Given the description of an element on the screen output the (x, y) to click on. 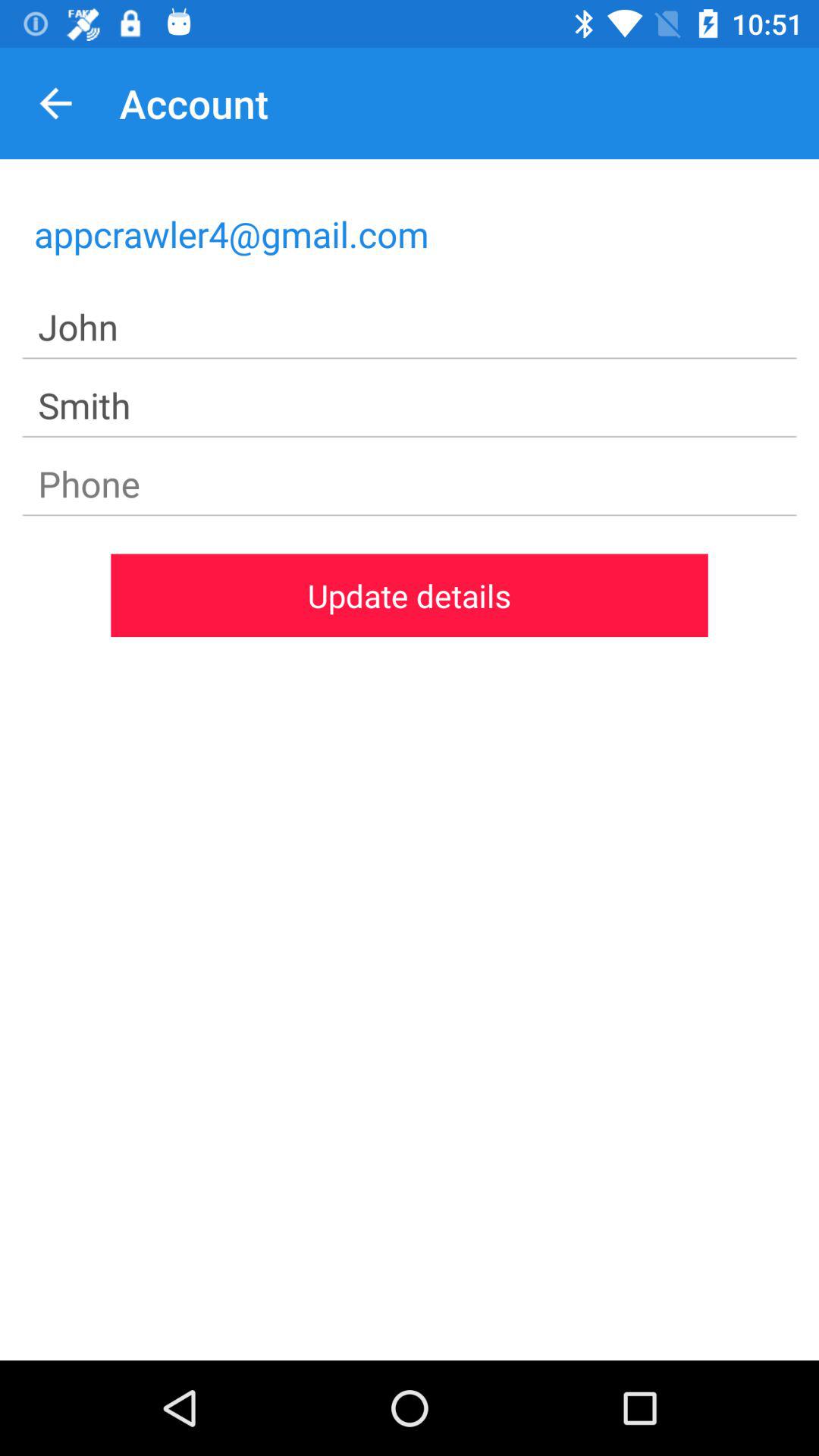
open john icon (409, 327)
